Given the description of an element on the screen output the (x, y) to click on. 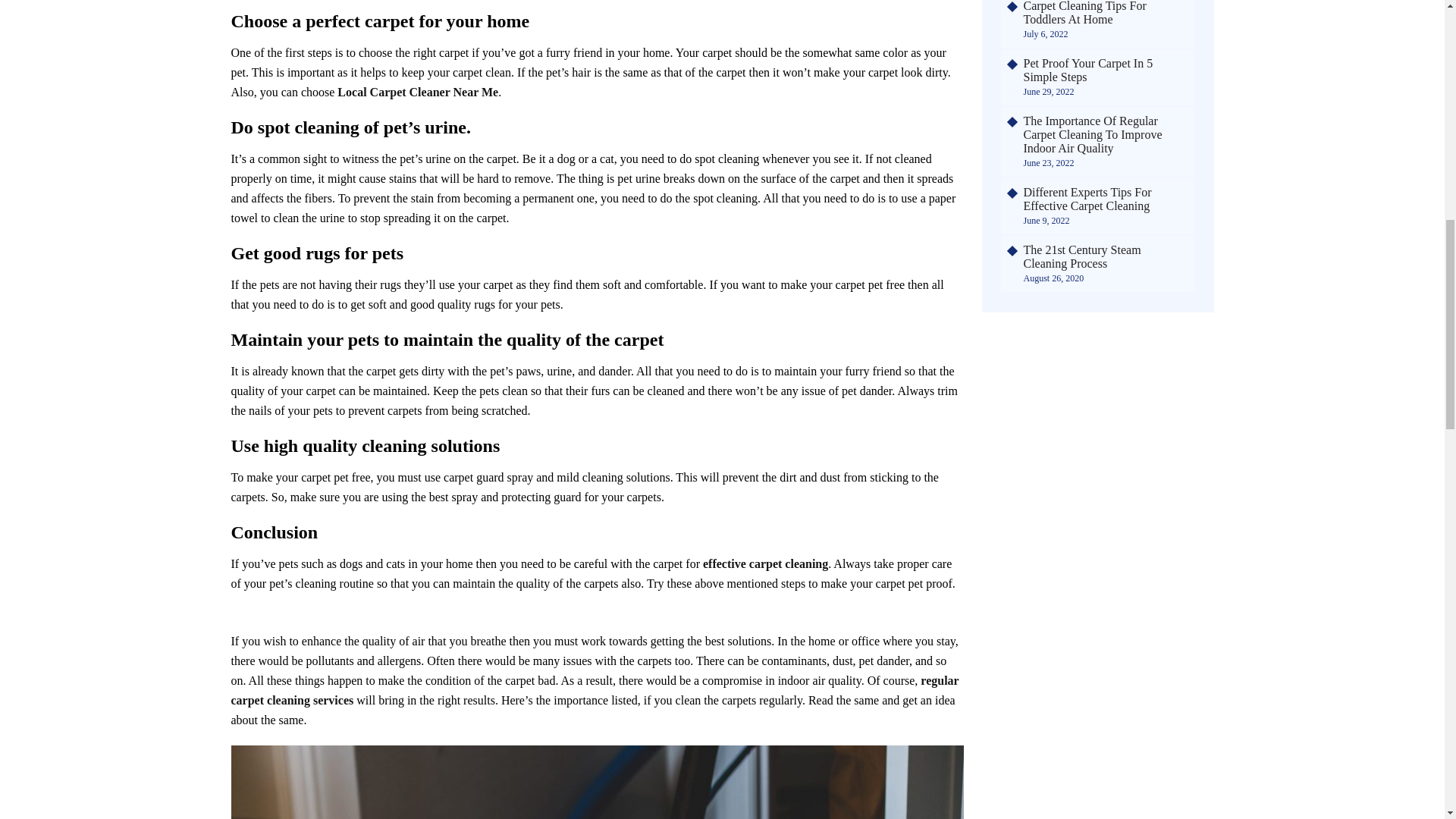
regular carpet cleaning services (594, 690)
Local Carpet Cleaner Near Me (417, 91)
effective carpet cleaning (765, 563)
Carpet Cleaning Tips For Toddlers At Home (1105, 13)
The 21st Century Steam Cleaning Process (1105, 257)
Different Experts Tips For Effective Carpet Cleaning (1105, 198)
Pet Proof Your Carpet In 5 Simple Steps (1105, 70)
